Given the description of an element on the screen output the (x, y) to click on. 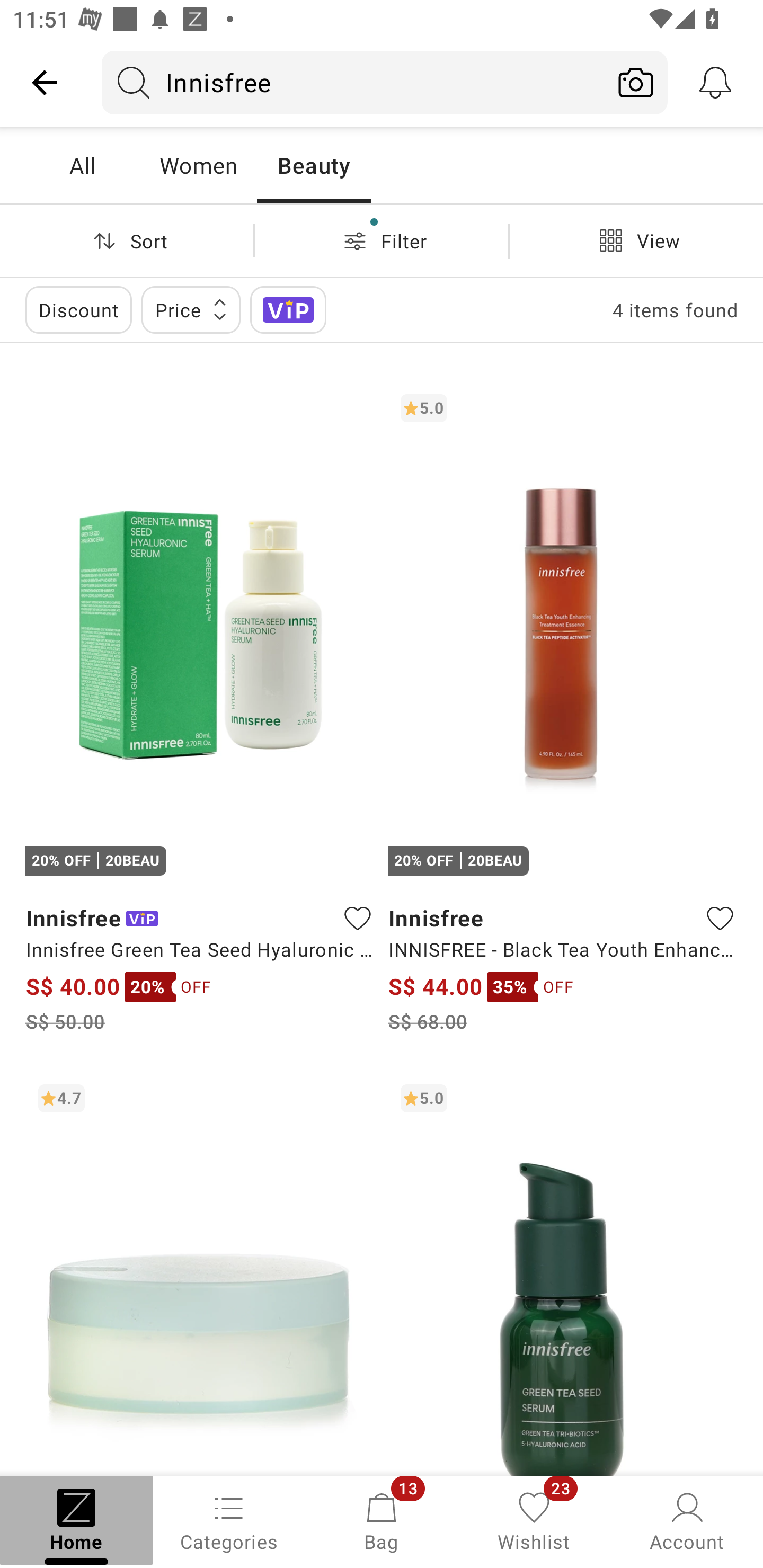
Navigate up (44, 82)
Innisfree (352, 82)
All (82, 165)
Women (198, 165)
Sort (126, 240)
Filter (381, 240)
View (636, 240)
Discount (78, 309)
Price (190, 309)
4.7 (200, 1272)
5.0 (562, 1272)
Categories (228, 1519)
Bag, 13 new notifications Bag (381, 1519)
Wishlist, 23 new notifications Wishlist (533, 1519)
Account (686, 1519)
